Given the description of an element on the screen output the (x, y) to click on. 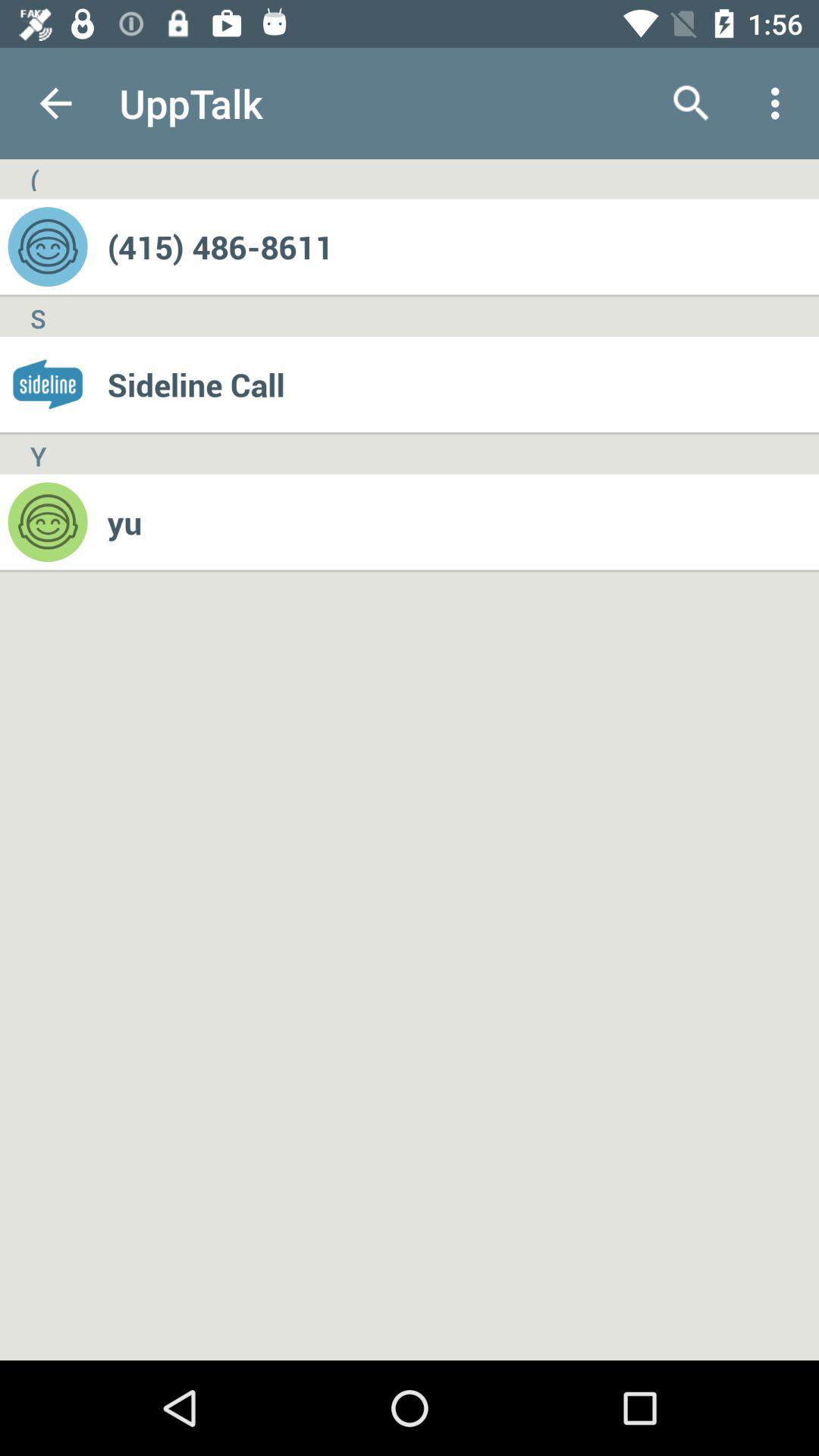
turn on app next to the upptalk app (55, 103)
